Given the description of an element on the screen output the (x, y) to click on. 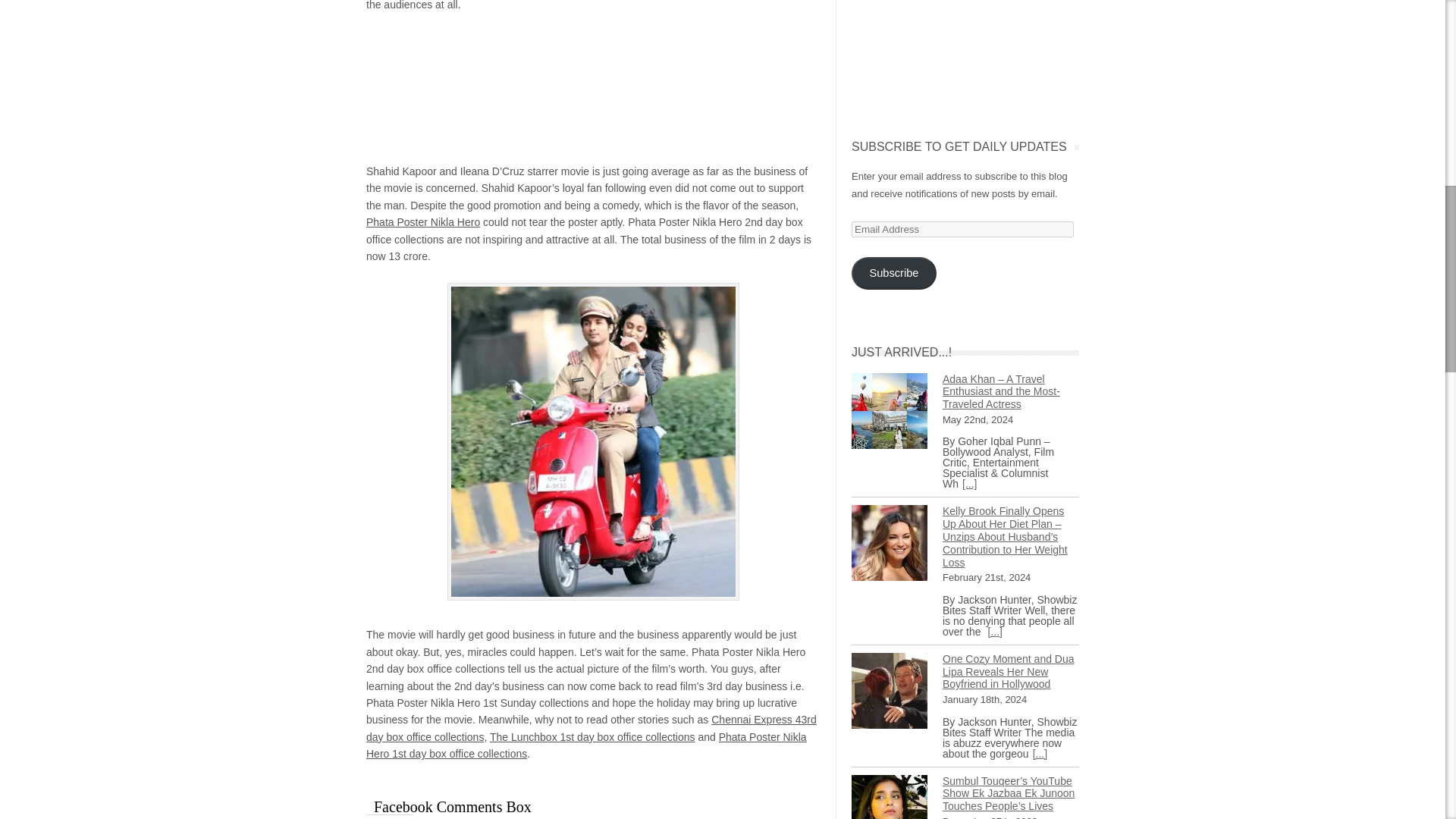
Phata Poster Nikla Hero 1st day box office collections (586, 745)
Chennai Express 43rd day box office collections (591, 727)
Phata Poster Nikla Hero (423, 222)
Advertisement (593, 87)
The Lunchbox 1st day box office collections (592, 736)
